Given the description of an element on the screen output the (x, y) to click on. 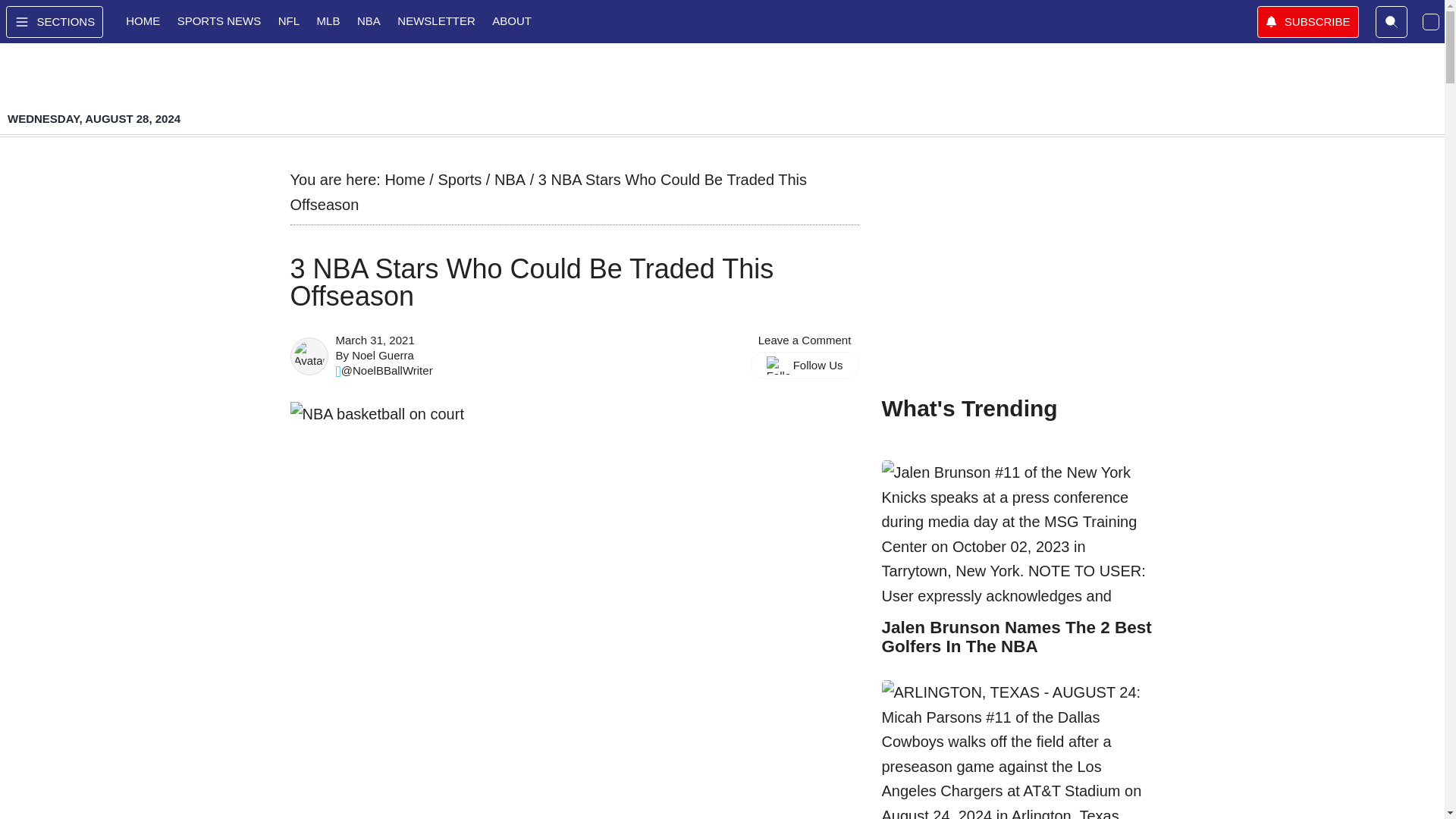
Search (1391, 21)
Open Menu (54, 21)
